Given the description of an element on the screen output the (x, y) to click on. 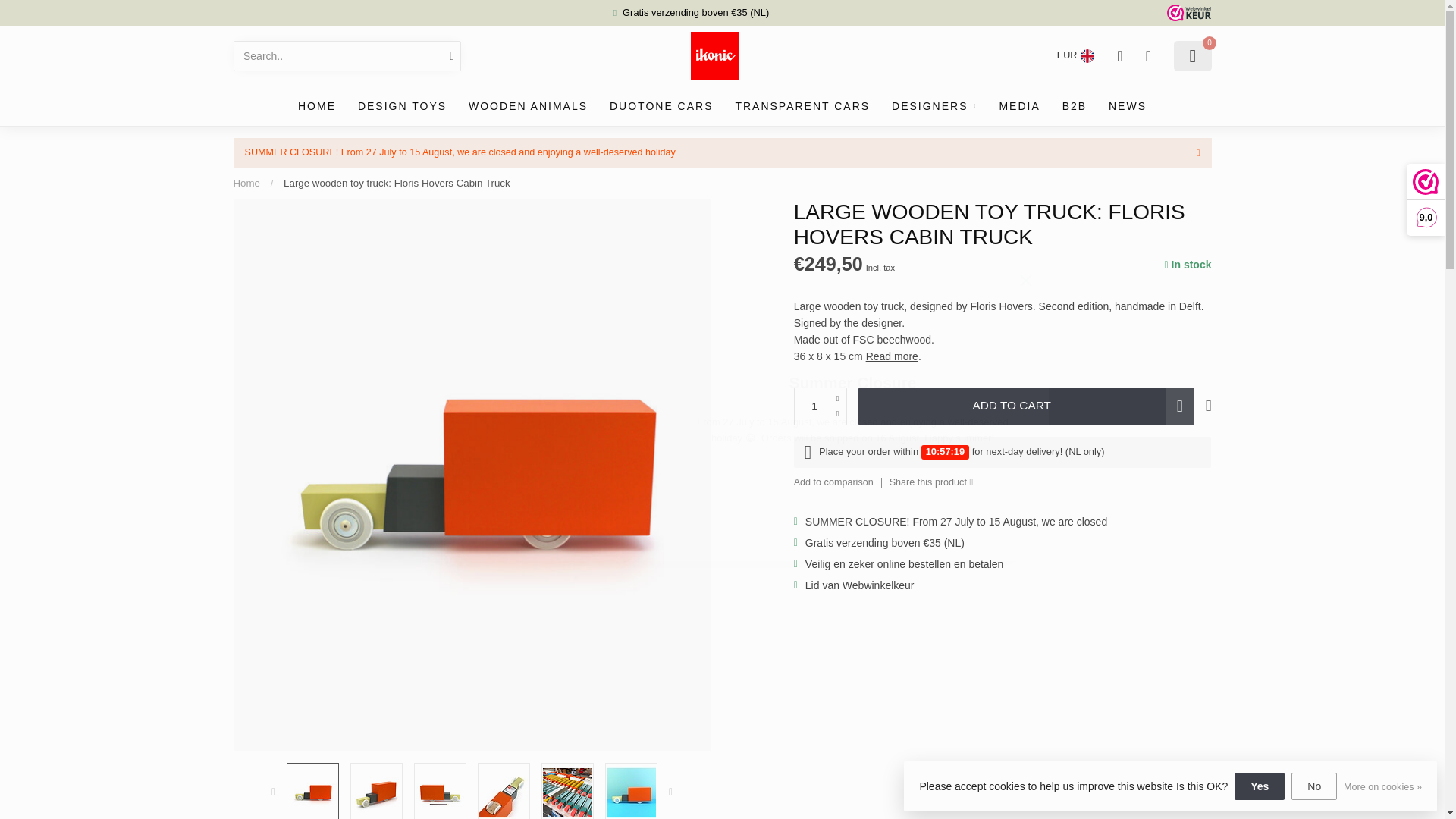
HOME (317, 106)
Add to comparison (833, 482)
ADD TO CART (1026, 406)
Home (246, 183)
Share this product (930, 482)
1 (820, 406)
Large wooden toy truck: Floris Hovers Cabin Truck (397, 183)
DESIGN TOYS (402, 106)
WOODEN ANIMALS (528, 106)
TRANSPARENT CARS (802, 106)
